Given the description of an element on the screen output the (x, y) to click on. 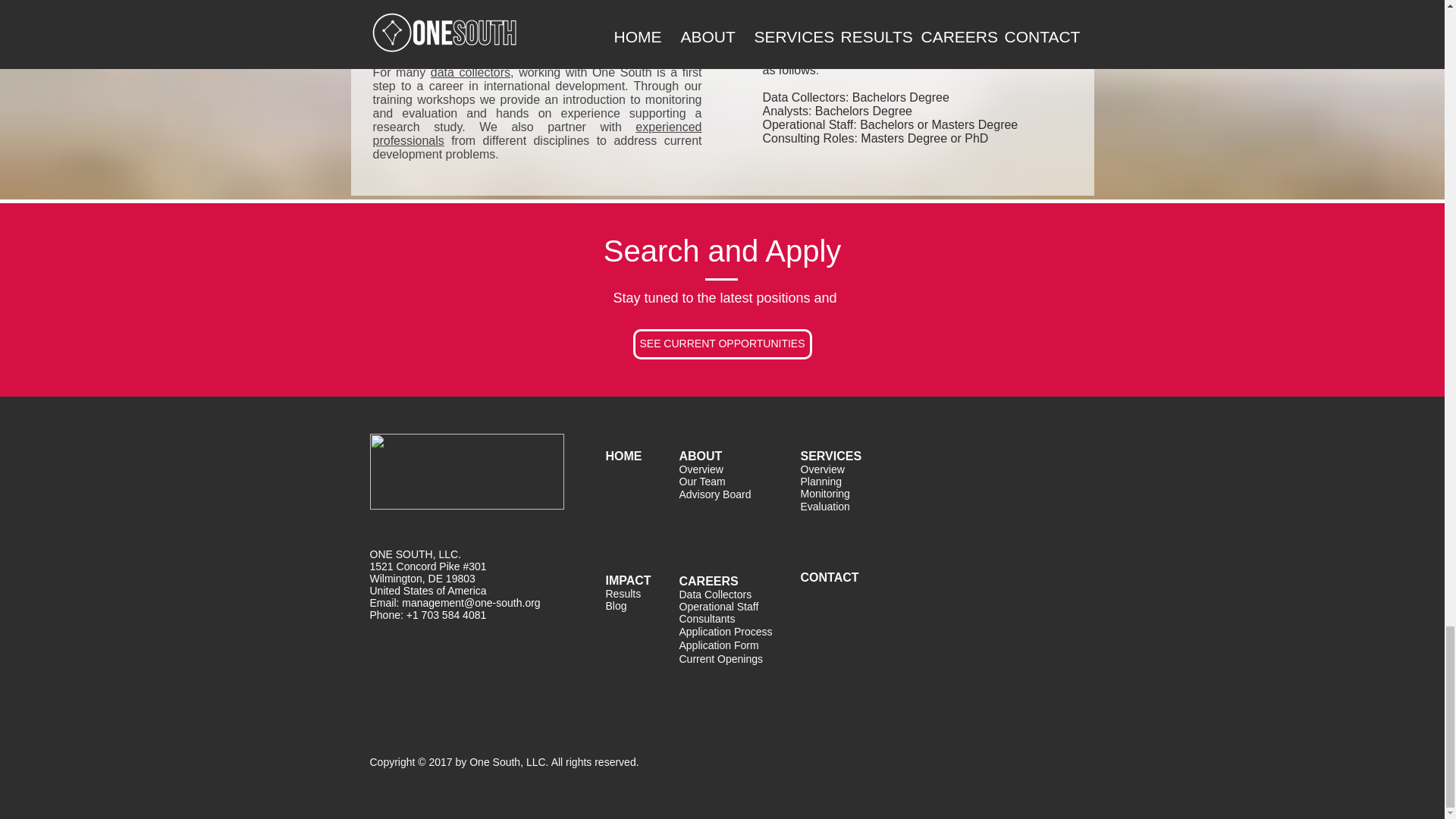
logo-blanco-png-250x1050.png (466, 471)
Overview (701, 469)
experienced professionals (536, 133)
HOME (623, 455)
data collectors (470, 72)
ABOUT (700, 455)
